Given the description of an element on the screen output the (x, y) to click on. 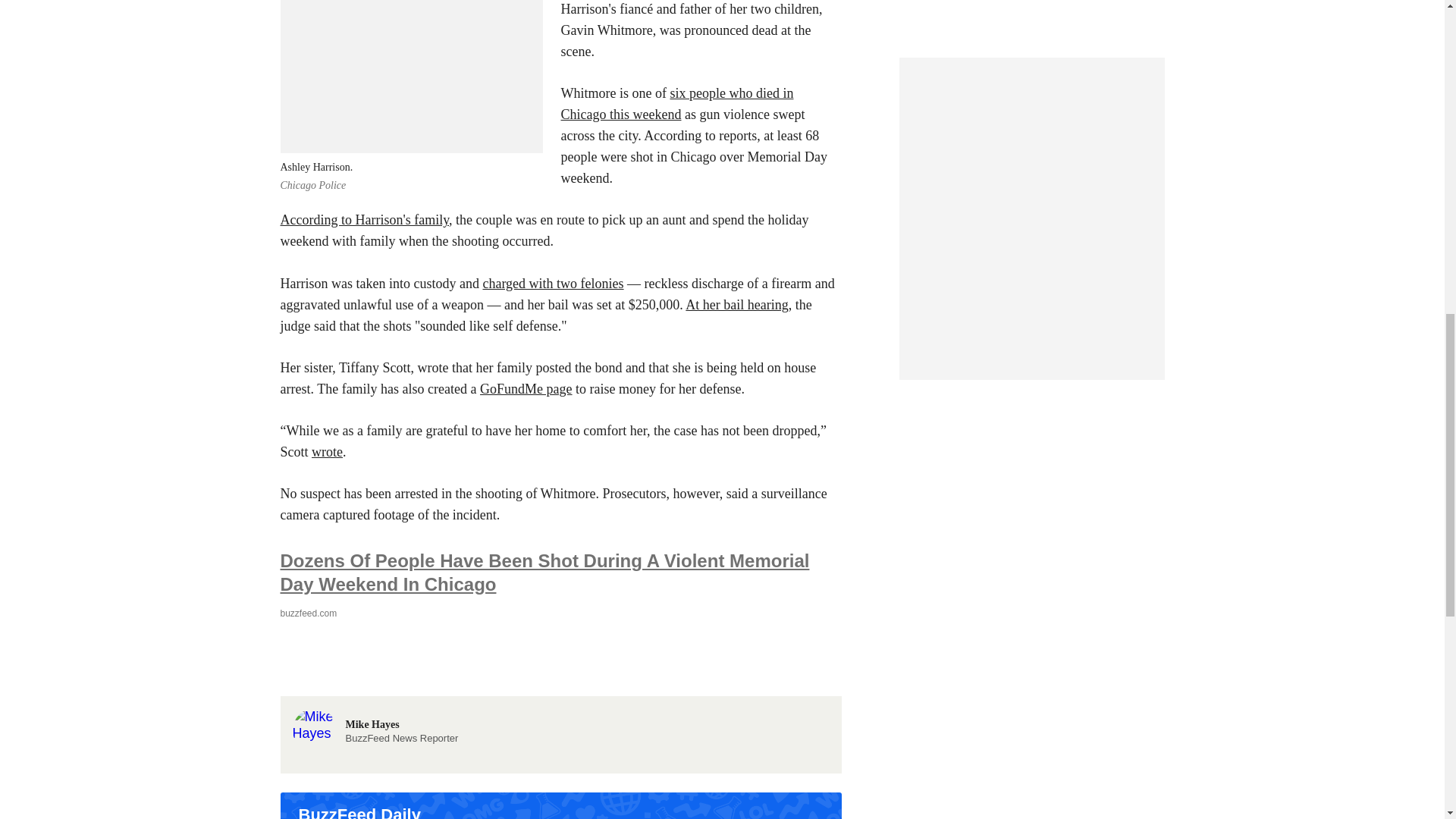
wrote (326, 451)
six people who died in Chicago this weekend (676, 103)
GoFundMe page (526, 388)
At her bail hearing (736, 304)
charged with two felonies (552, 283)
According to Harrison's family (375, 716)
